Given the description of an element on the screen output the (x, y) to click on. 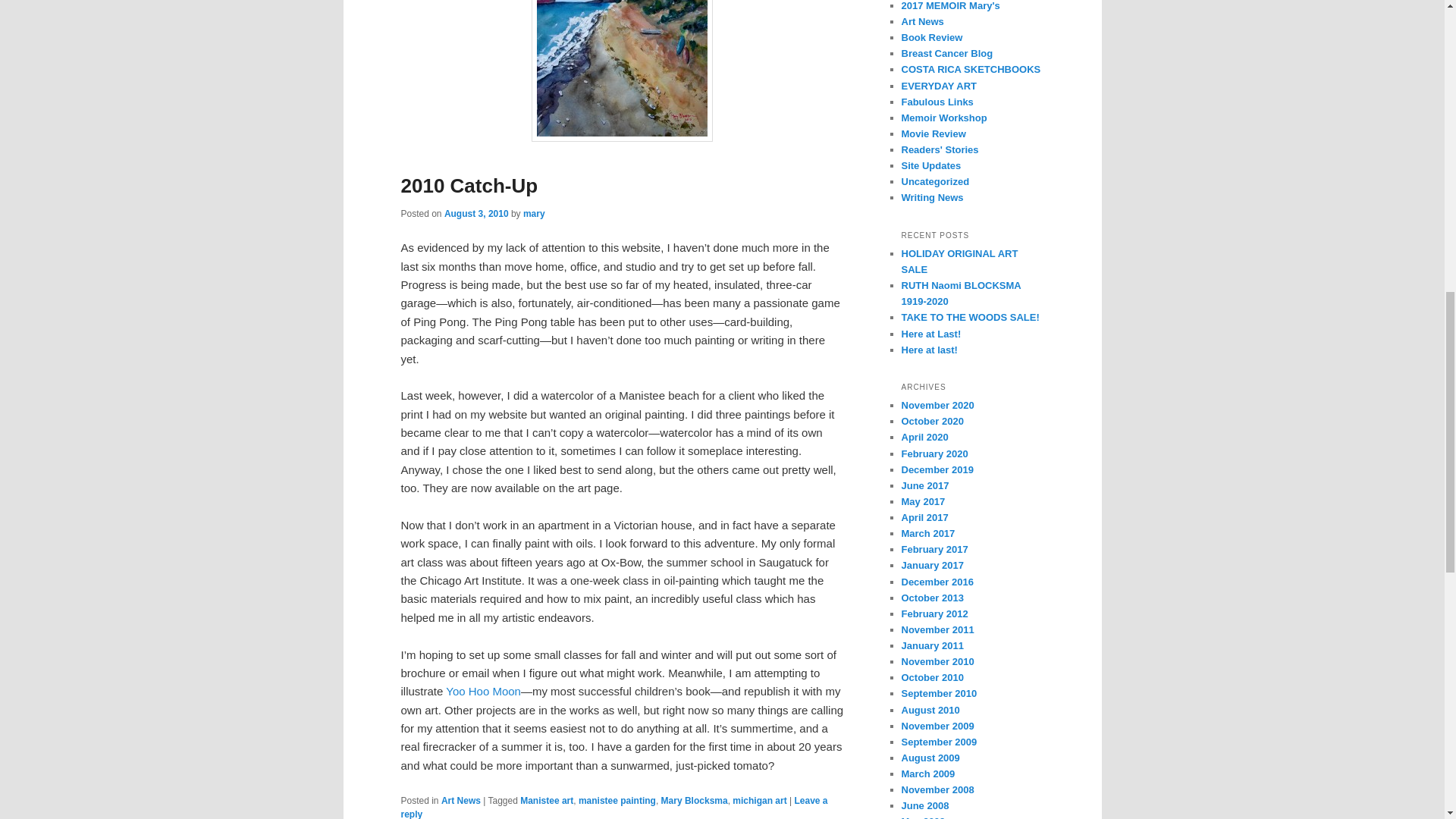
Uncategorized (935, 181)
Breast Cancer Blog (946, 52)
Memoir Workshop (944, 117)
manistee painting (617, 800)
3:28 pm (476, 213)
EVERYDAY ART (938, 85)
2010 Catch-Up (468, 185)
Manistee art (546, 800)
michigan art (759, 800)
COSTA RICA SKETCHBOOKS (971, 69)
